Given the description of an element on the screen output the (x, y) to click on. 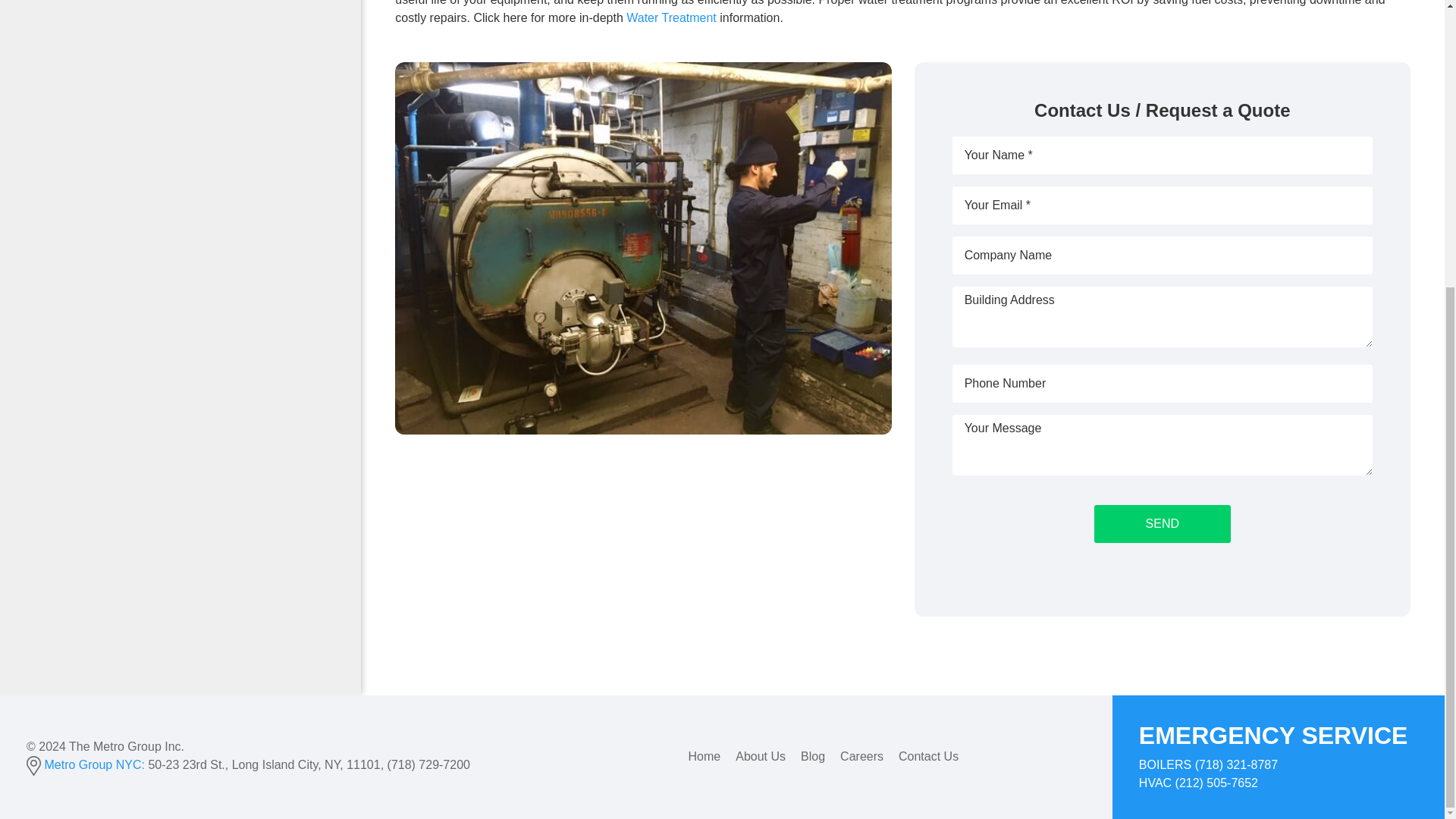
Send (1162, 523)
